Given the description of an element on the screen output the (x, y) to click on. 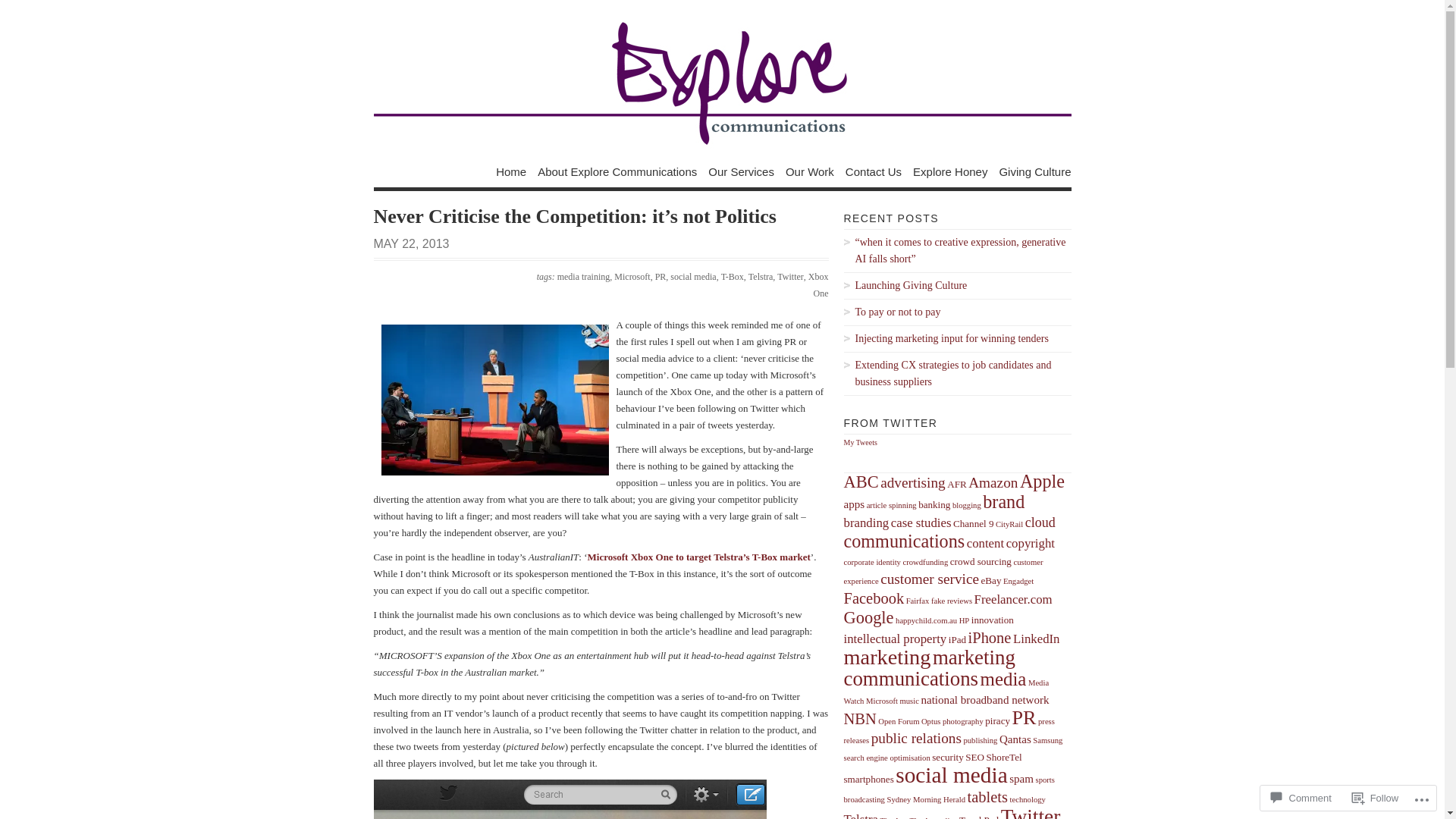
Samsung Element type: text (1047, 740)
cloud Element type: text (1040, 522)
Telstra Element type: text (760, 276)
Media Watch Element type: text (945, 691)
HP Element type: text (964, 620)
iPhone Element type: text (989, 637)
crowdfunding Element type: text (924, 562)
spam Element type: text (1021, 778)
technology Element type: text (1027, 799)
marketing communications Element type: text (928, 668)
LinkedIn Element type: text (1036, 638)
marketing Element type: text (886, 656)
Microsoft Element type: text (631, 276)
communications Element type: text (903, 540)
photography Element type: text (962, 721)
Google Element type: text (868, 617)
Giving Culture Element type: text (1034, 170)
press releases Element type: text (948, 730)
Optus Element type: text (930, 721)
Home Element type: text (510, 170)
search engine optimisation Element type: text (886, 757)
branding Element type: text (865, 522)
Microsoft Element type: text (881, 700)
PR Element type: text (660, 276)
content Element type: text (985, 543)
Facebook Element type: text (873, 597)
Engadget Element type: text (1018, 581)
customer experience Element type: text (942, 571)
social media Element type: text (951, 774)
Qantas Element type: text (1015, 739)
Follow Element type: text (1375, 797)
case studies Element type: text (921, 522)
crowd sourcing Element type: text (980, 561)
security Element type: text (947, 756)
Amazon Element type: text (992, 482)
AFR Element type: text (956, 483)
iPad Element type: text (957, 639)
CityRail Element type: text (1008, 524)
SEO Element type: text (974, 756)
Channel 9 Element type: text (973, 523)
To pay or not to pay Element type: text (956, 312)
Fairfax Element type: text (917, 600)
PR Element type: text (1024, 717)
media Element type: text (1003, 678)
smartphones Element type: text (868, 778)
media training Element type: text (583, 276)
apps Element type: text (853, 504)
Contact Us Element type: text (873, 170)
ABC Element type: text (860, 481)
ShoreTel Element type: text (1004, 756)
national broadband network Element type: text (984, 699)
intellectual property Element type: text (894, 638)
brand Element type: text (1003, 501)
corporate identity Element type: text (871, 562)
fake reviews Element type: text (951, 600)
About Explore Communications Element type: text (616, 170)
advertising Element type: text (912, 482)
Open Forum Element type: text (898, 721)
piracy Element type: text (997, 720)
Xbox One Element type: text (818, 284)
Apple Element type: text (1041, 480)
Comment Element type: text (1300, 797)
Launching Giving Culture Element type: text (956, 285)
public relations Element type: text (916, 738)
Injecting marketing input for winning tenders Element type: text (956, 338)
happychild.com.au Element type: text (926, 620)
blogging Element type: text (966, 505)
copyright Element type: text (1030, 543)
innovation Element type: text (992, 619)
banking Element type: text (934, 504)
Twitter Element type: text (790, 276)
Our Services Element type: text (741, 170)
Sydney Morning Herald Element type: text (925, 799)
My Tweets Element type: text (859, 442)
eBay Element type: text (991, 580)
article spinning Element type: text (891, 505)
T-Box Element type: text (732, 276)
social media Element type: text (692, 276)
publishing Element type: text (980, 740)
tablets Element type: text (987, 796)
customer service Element type: text (929, 578)
Our Work Element type: text (809, 170)
Freelancer.com Element type: text (1013, 599)
NBN Element type: text (859, 718)
Explore Honey Element type: text (950, 170)
sports broadcasting Element type: text (948, 789)
music Element type: text (908, 700)
